Given the description of an element on the screen output the (x, y) to click on. 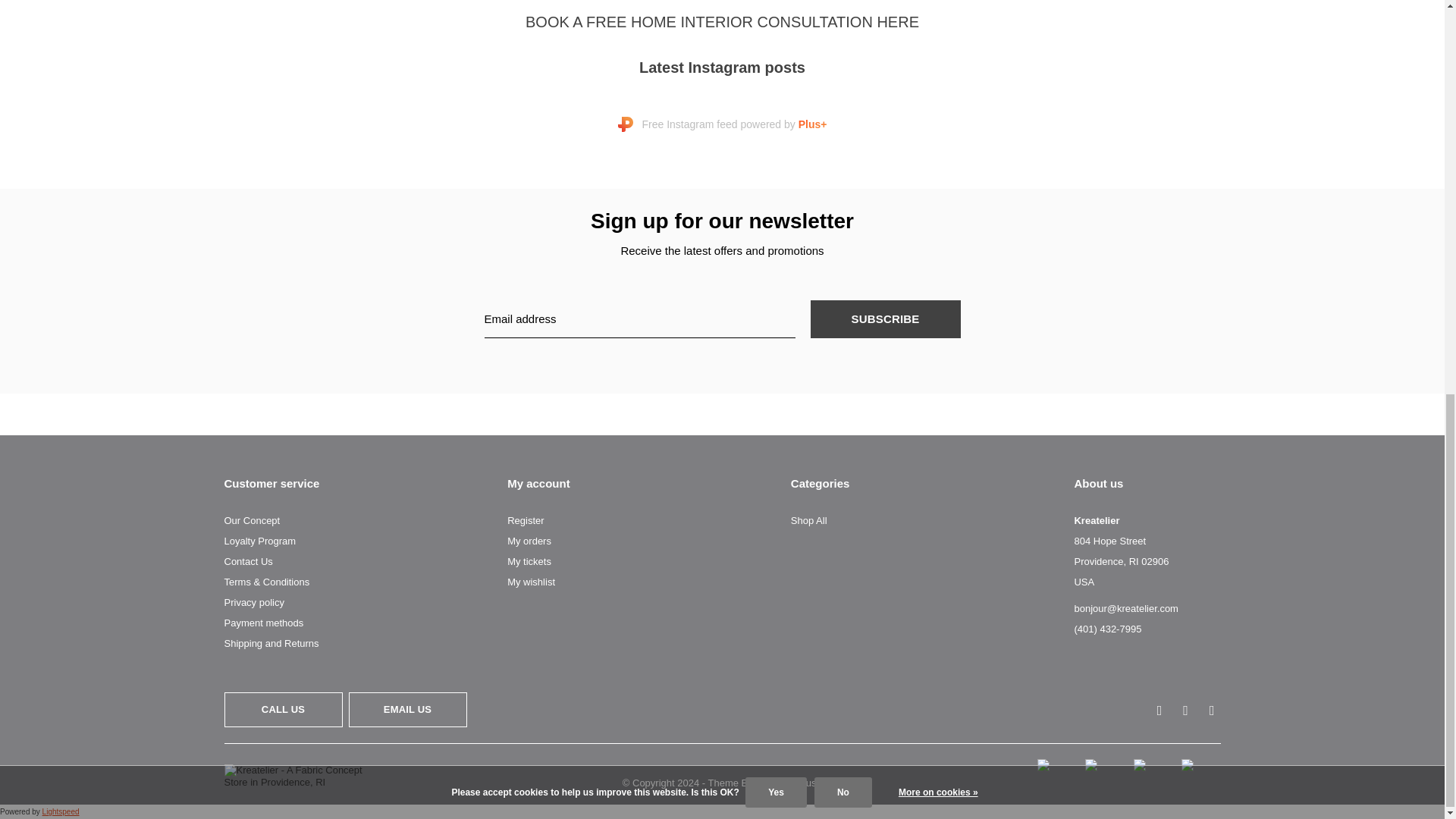
Register (524, 520)
Yes (775, 31)
More on cookies (937, 31)
My wishlist (530, 582)
No (842, 31)
Lightspeed (61, 811)
My tickets (528, 561)
My orders (528, 541)
